Given the description of an element on the screen output the (x, y) to click on. 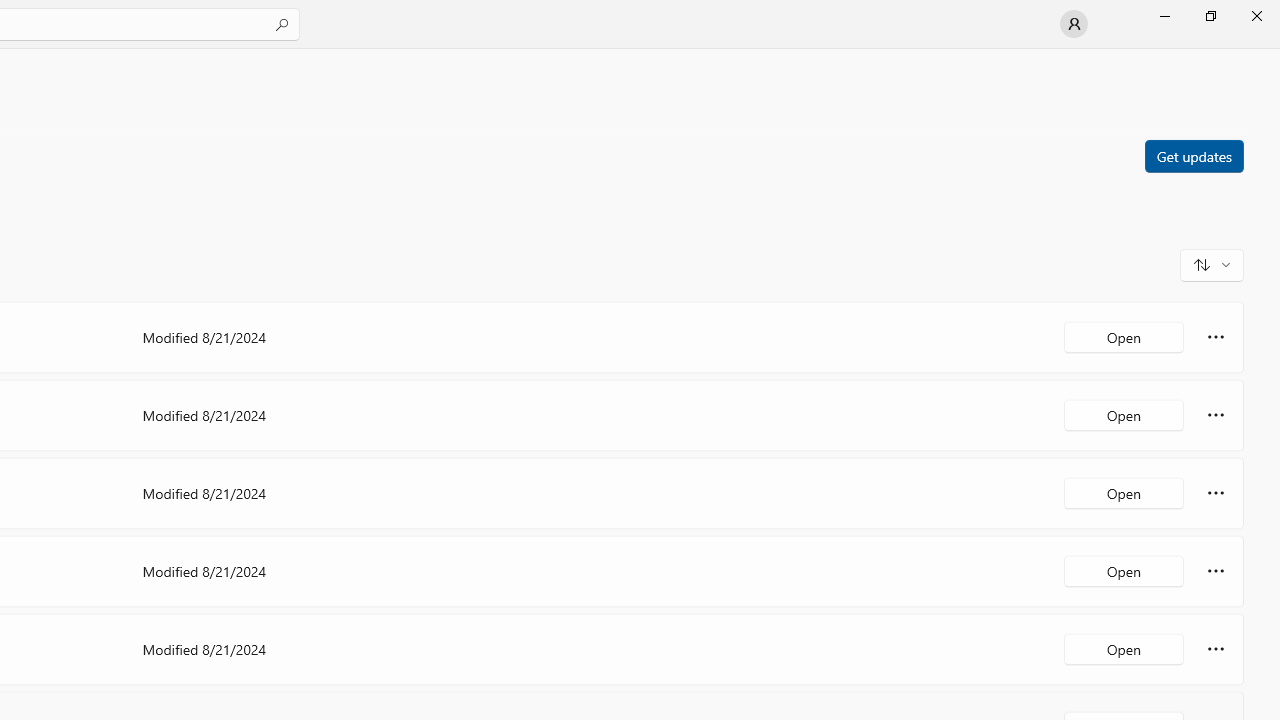
Sort and filter (1212, 263)
Get updates (1193, 155)
Open (1123, 648)
More options (1215, 648)
